Given the description of an element on the screen output the (x, y) to click on. 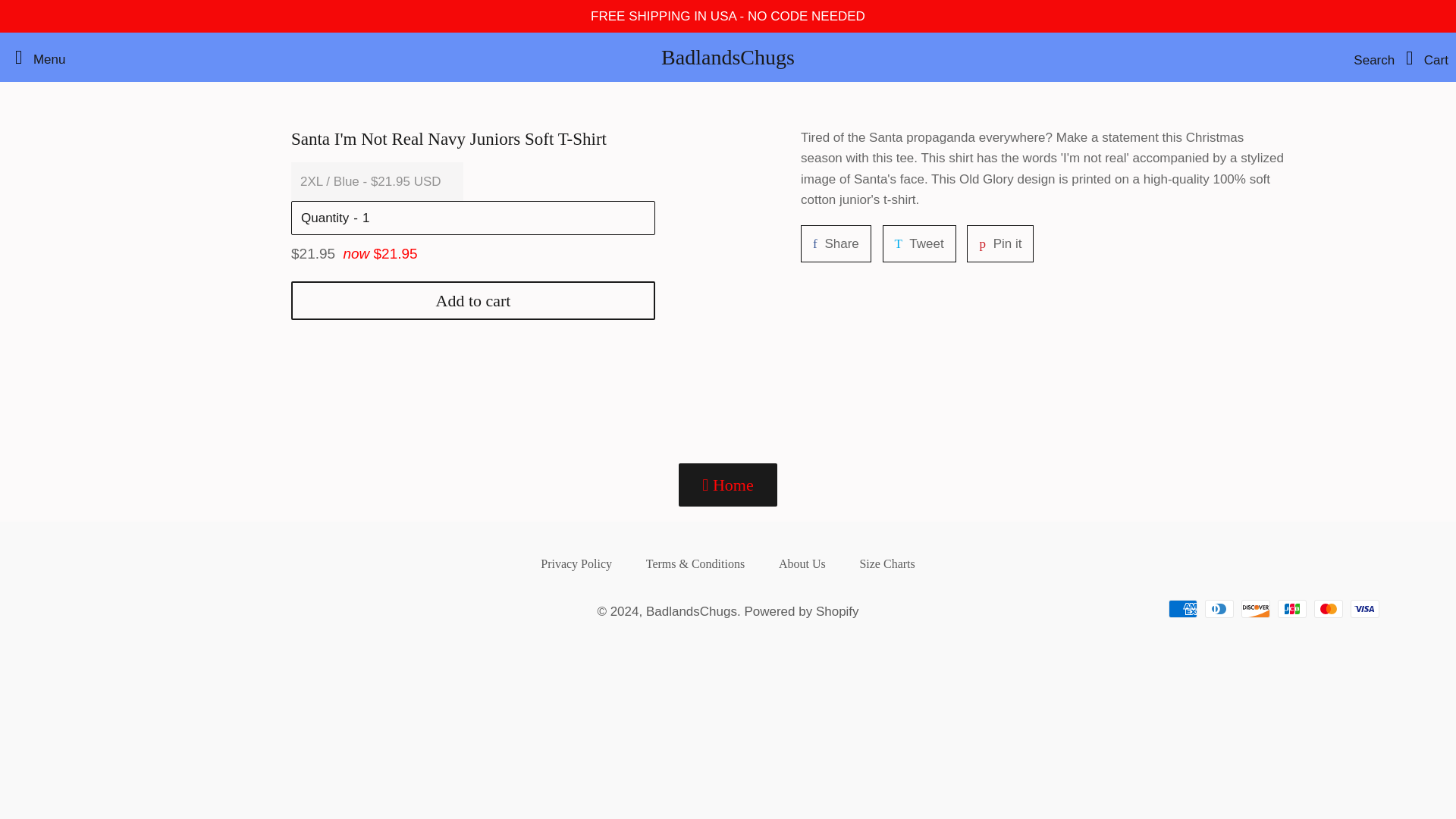
Add to cart (468, 510)
Mastercard (1318, 814)
BadlandsChugs (829, 408)
Privacy Policy (685, 816)
Home (570, 774)
Share on Facebook (721, 694)
About Us (912, 408)
BadlandsChugs (829, 408)
Size Charts (795, 774)
Pin on Pinterest (993, 408)
Diners Club (722, 57)
Tweet on Twitter (881, 774)
